Given the description of an element on the screen output the (x, y) to click on. 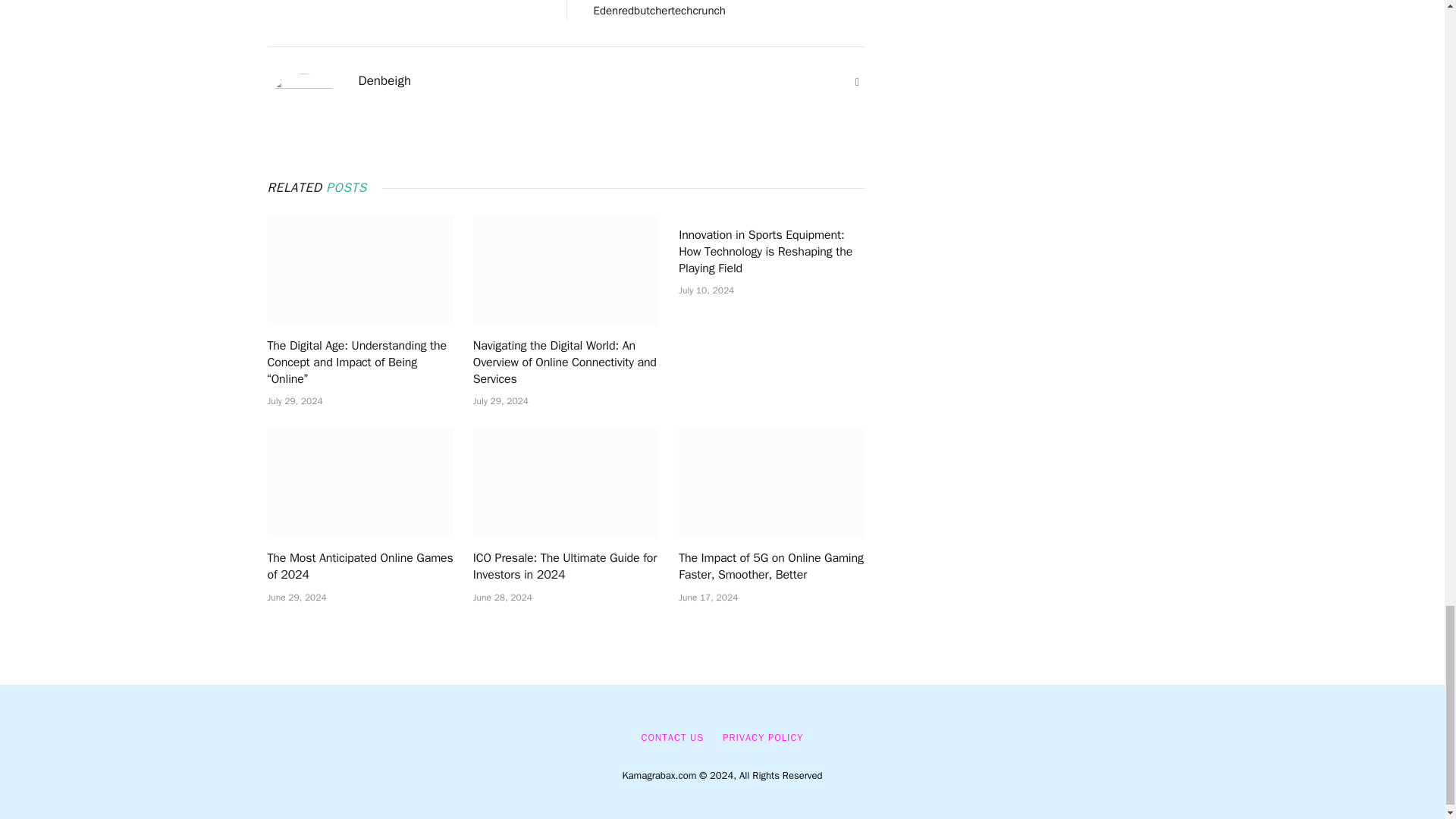
Londonbased Banked Series Boa Edenredbutchertechcrunch (675, 9)
Website (856, 82)
Posts by Denbeigh (384, 80)
Denbeigh (384, 80)
Website (856, 82)
ICO Presale: The Ultimate Guide for Investors in 2024 (566, 482)
The Most Anticipated Online Games of 2024 (359, 482)
